Given the description of an element on the screen output the (x, y) to click on. 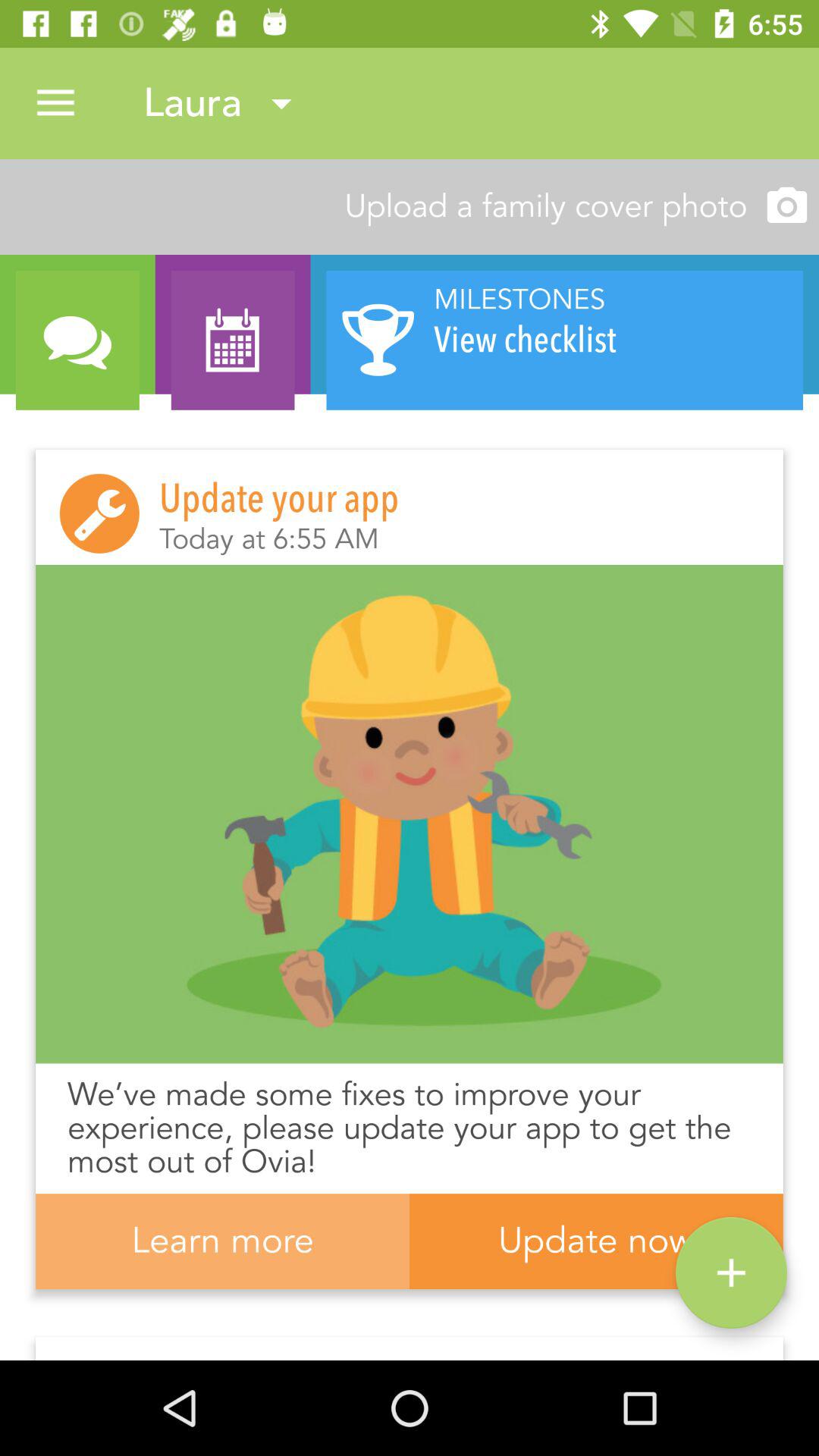
open the icon next to laura (55, 103)
